Given the description of an element on the screen output the (x, y) to click on. 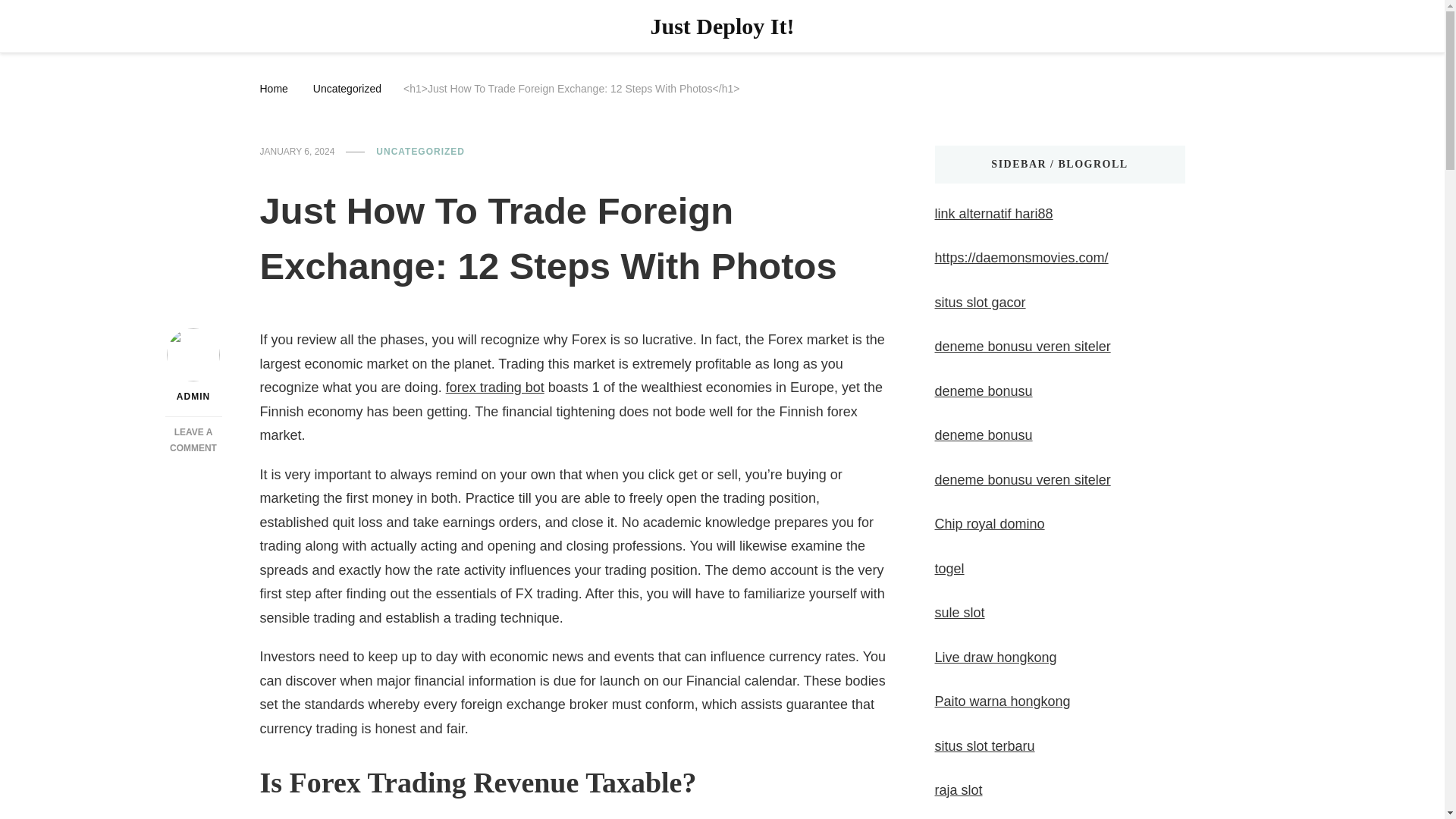
forex trading bot (494, 387)
deneme bonusu veren siteler (1021, 478)
JANUARY 6, 2024 (296, 151)
Uncategorized (193, 439)
deneme bonusu (347, 87)
togel (983, 391)
deneme bonusu veren siteler (948, 568)
situs slot gacor (1021, 346)
Chip royal domino (979, 301)
